Given the description of an element on the screen output the (x, y) to click on. 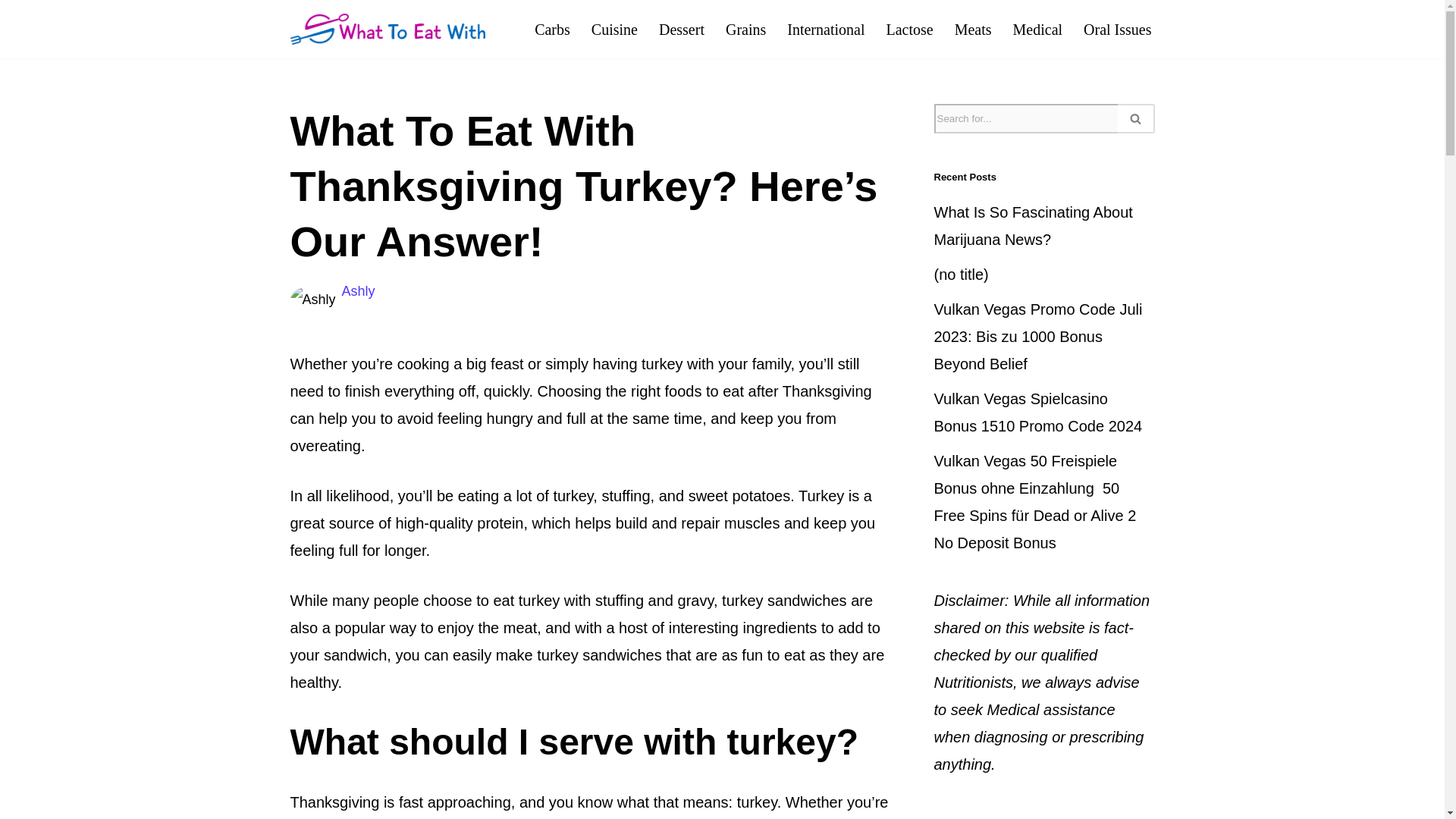
International (825, 28)
Lactose (909, 28)
Oral Issues (1117, 28)
Dessert (681, 28)
Medical (1037, 28)
Grains (745, 28)
Skip to content (11, 31)
Cuisine (614, 28)
What Is So Fascinating About Marijuana News? (1033, 225)
Ashly (358, 290)
Vulkan Vegas Spielcasino Bonus 1510 Promo Code 2024 (1038, 412)
Meats (973, 28)
Carbs (552, 28)
Posts by Ashly (358, 290)
